Given the description of an element on the screen output the (x, y) to click on. 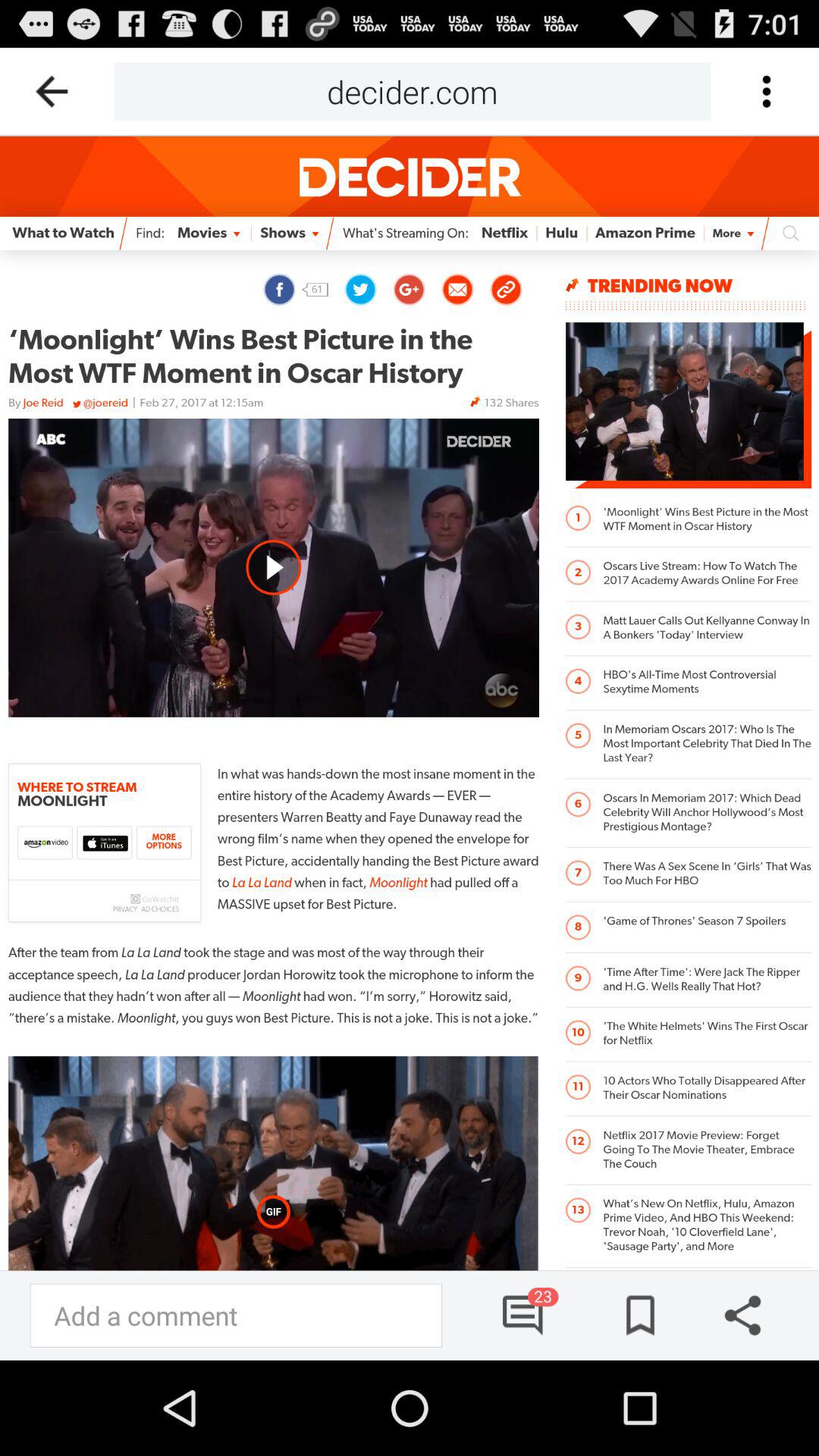
notifications (523, 1315)
